Given the description of an element on the screen output the (x, y) to click on. 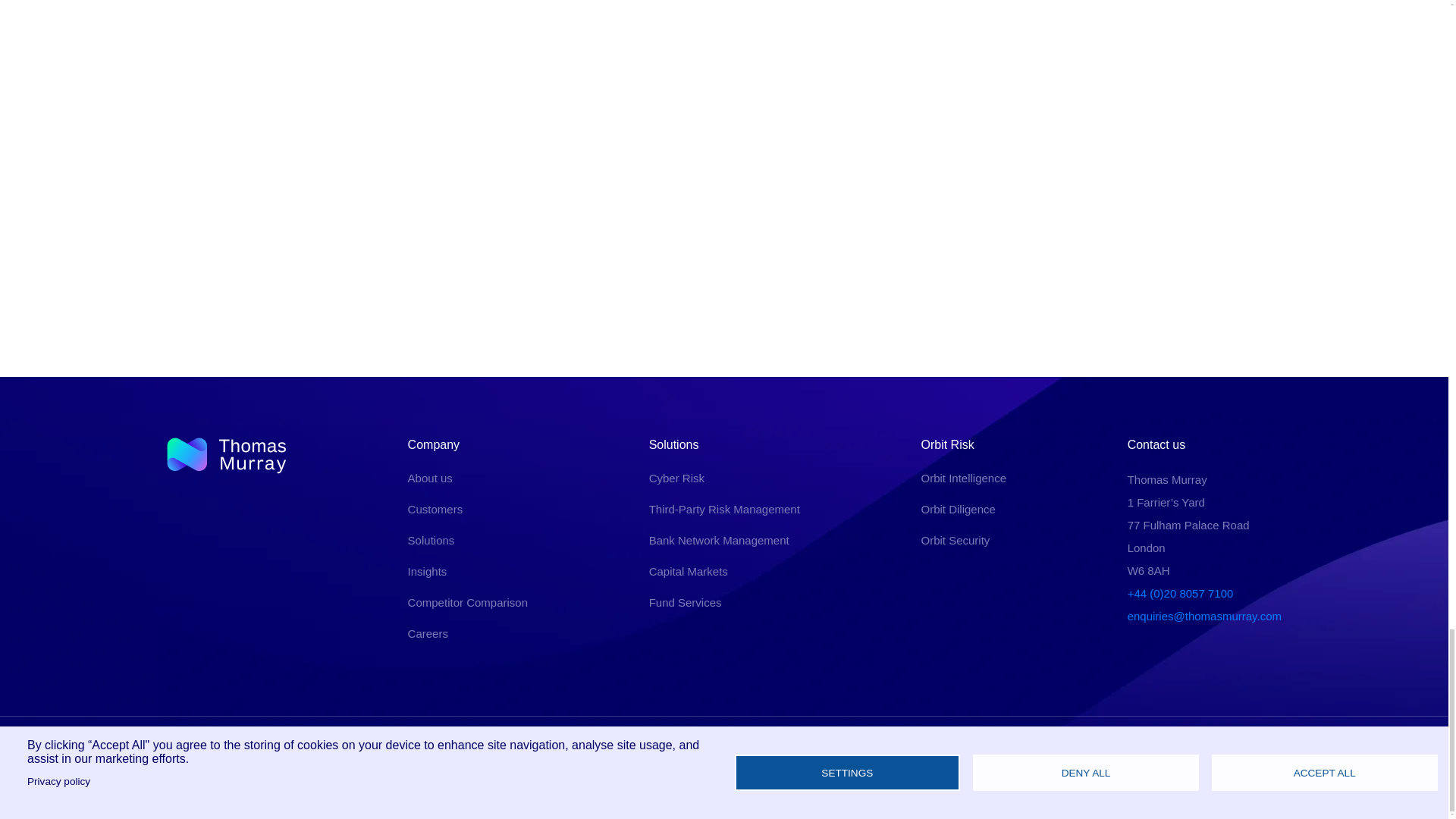
Third Party Risk Management (724, 508)
Competitor Comparison (467, 602)
Cyber Risk (676, 477)
Solutions (430, 540)
About us (429, 477)
Insights (426, 571)
Customers (435, 508)
Careers (427, 633)
